Given the description of an element on the screen output the (x, y) to click on. 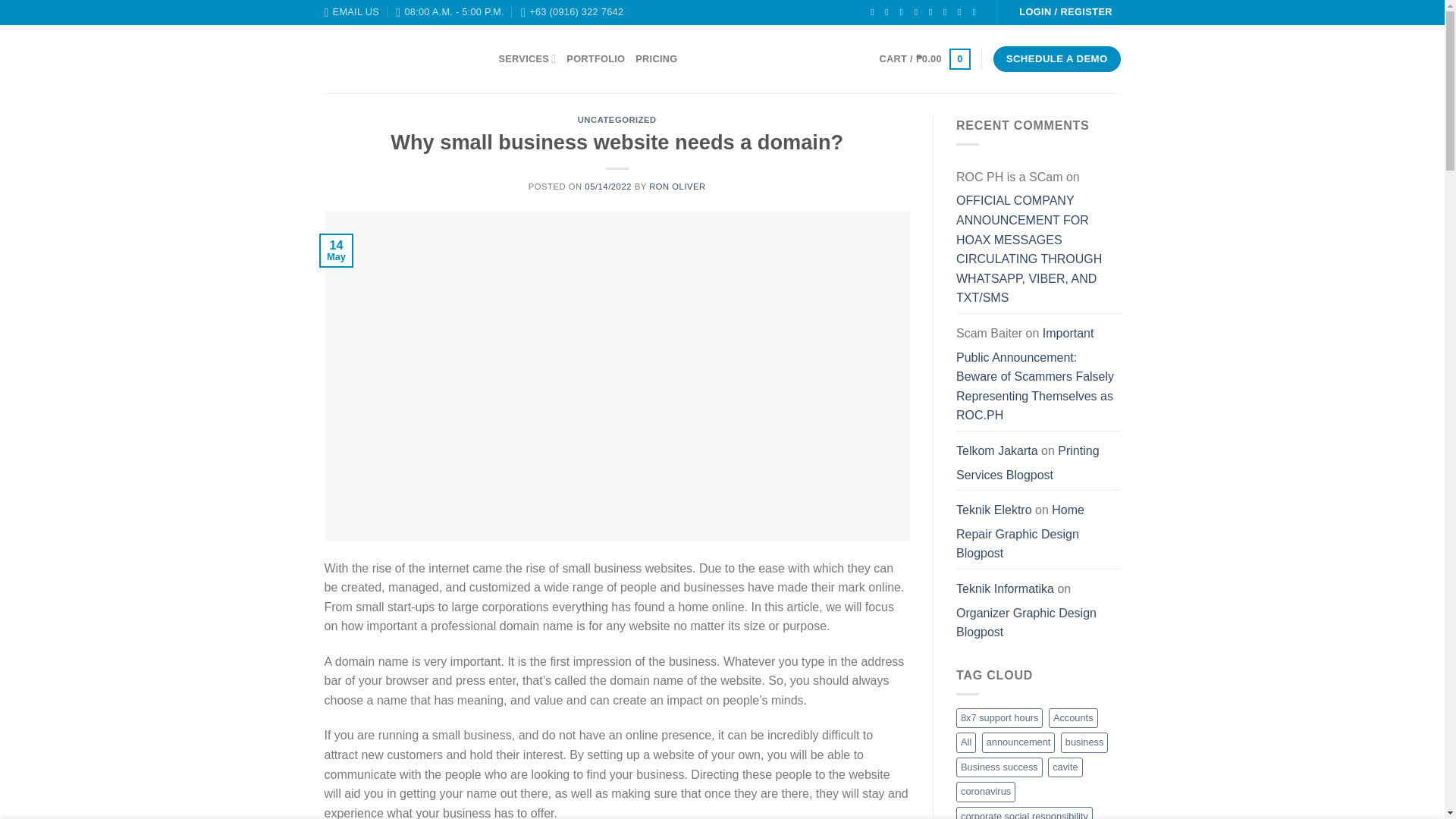
Login (1065, 12)
UNCATEGORIZED (617, 119)
ROC.PH - Unlimited Digital Marketing Services (400, 58)
EMAIL US (351, 11)
08:00 A.M. - 5:00 P.M. (449, 11)
SCHEDULE A DEMO (1056, 58)
PORTFOLIO (595, 58)
Cart (925, 58)
PRICING (655, 58)
SERVICES (527, 58)
